Given the description of an element on the screen output the (x, y) to click on. 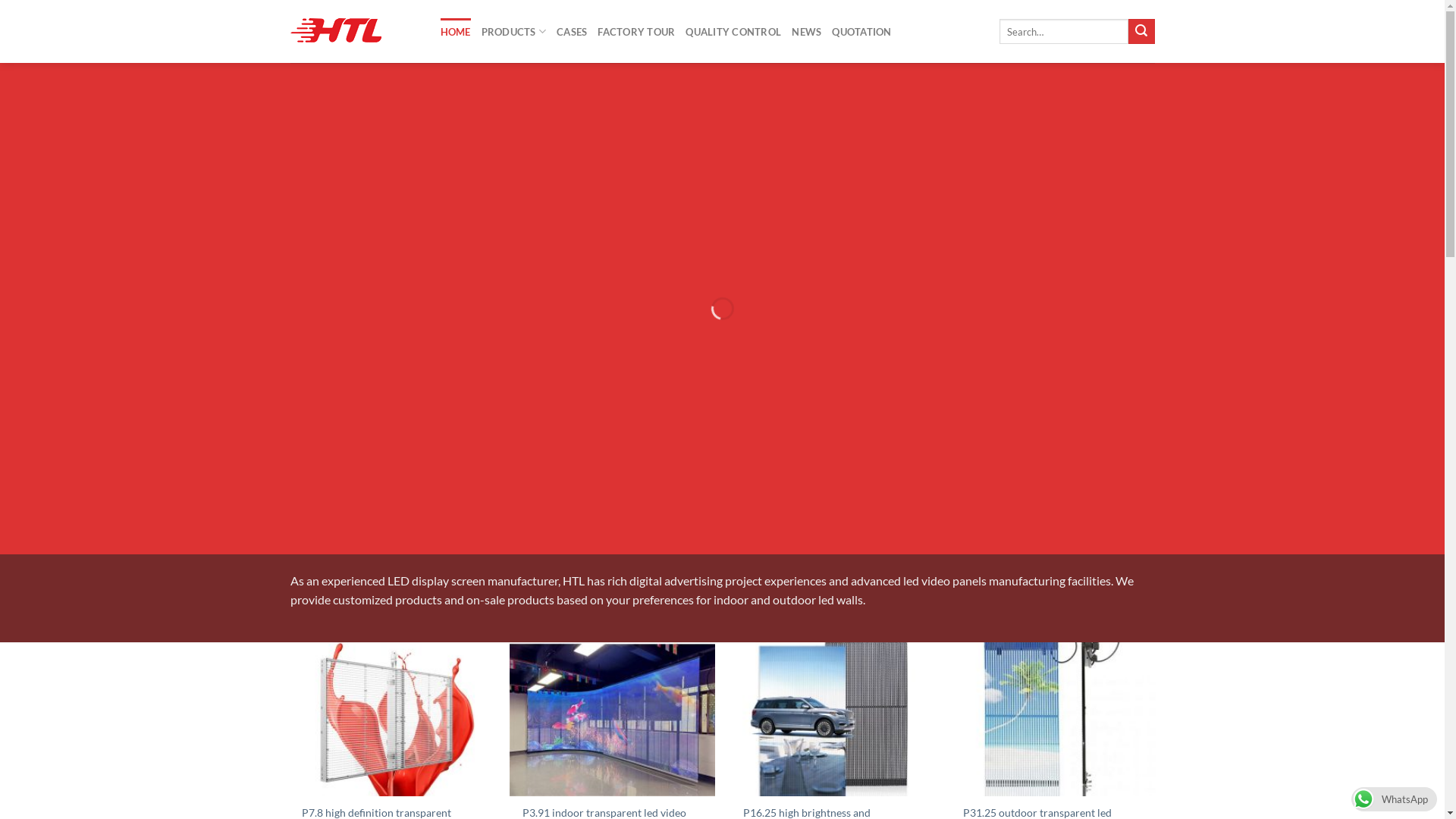
WhatsApp Element type: text (1394, 797)
CASES Element type: text (571, 31)
QUOTATION Element type: text (861, 31)
Search Element type: text (1141, 31)
HOME Element type: text (454, 31)
NEWS Element type: text (806, 31)
QUALITY CONTROL Element type: text (733, 31)
Led screen factory Element type: hover (353, 31)
PRODUCTS Element type: text (513, 31)
FACTORY TOUR Element type: text (635, 31)
